Given the description of an element on the screen output the (x, y) to click on. 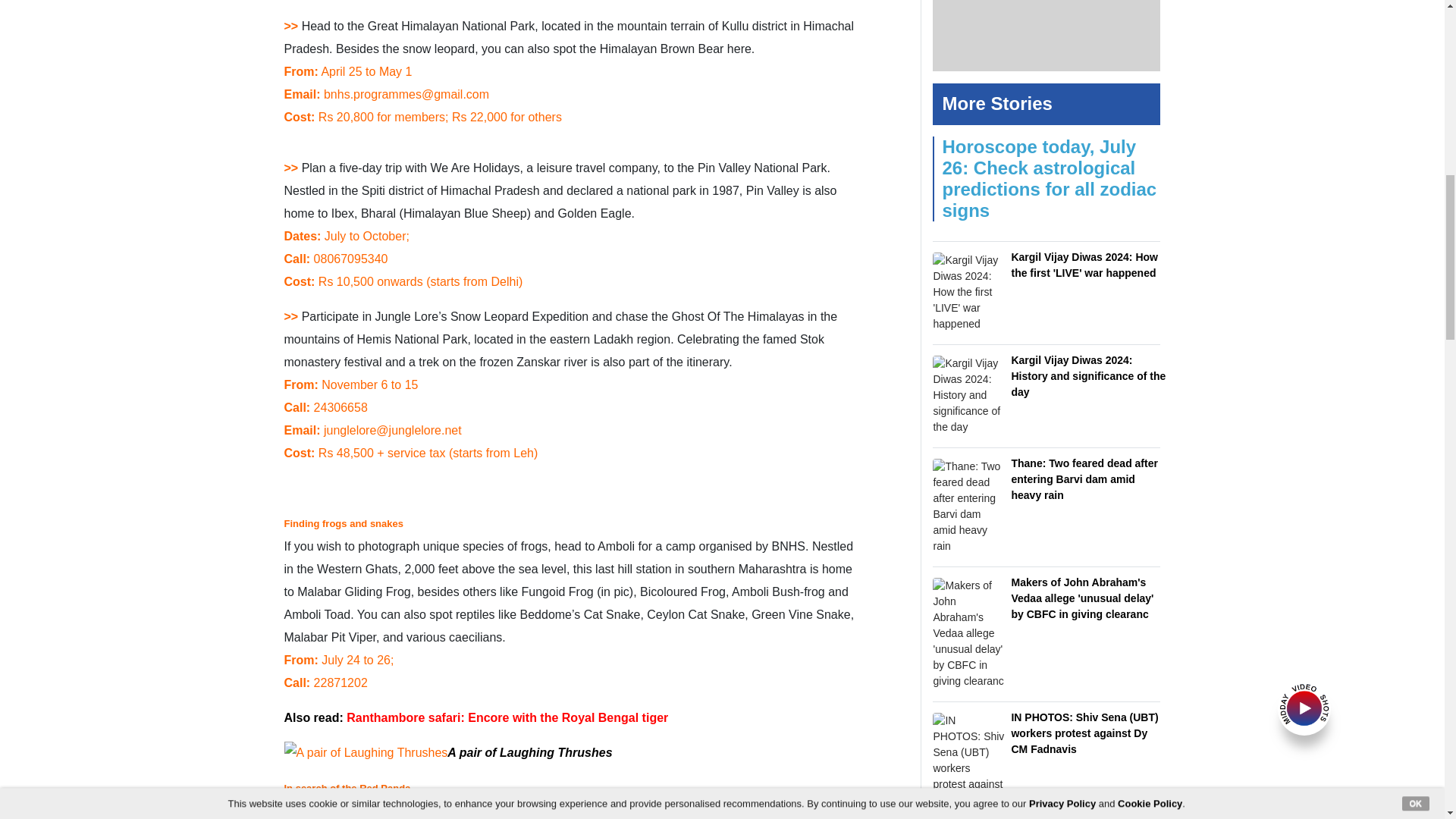
Kargil Vijay Diwas 2024: History and significance of the day (968, 394)
Kargil Vijay Diwas 2024: How the first 'LIVE' war happened (968, 292)
